Given the description of an element on the screen output the (x, y) to click on. 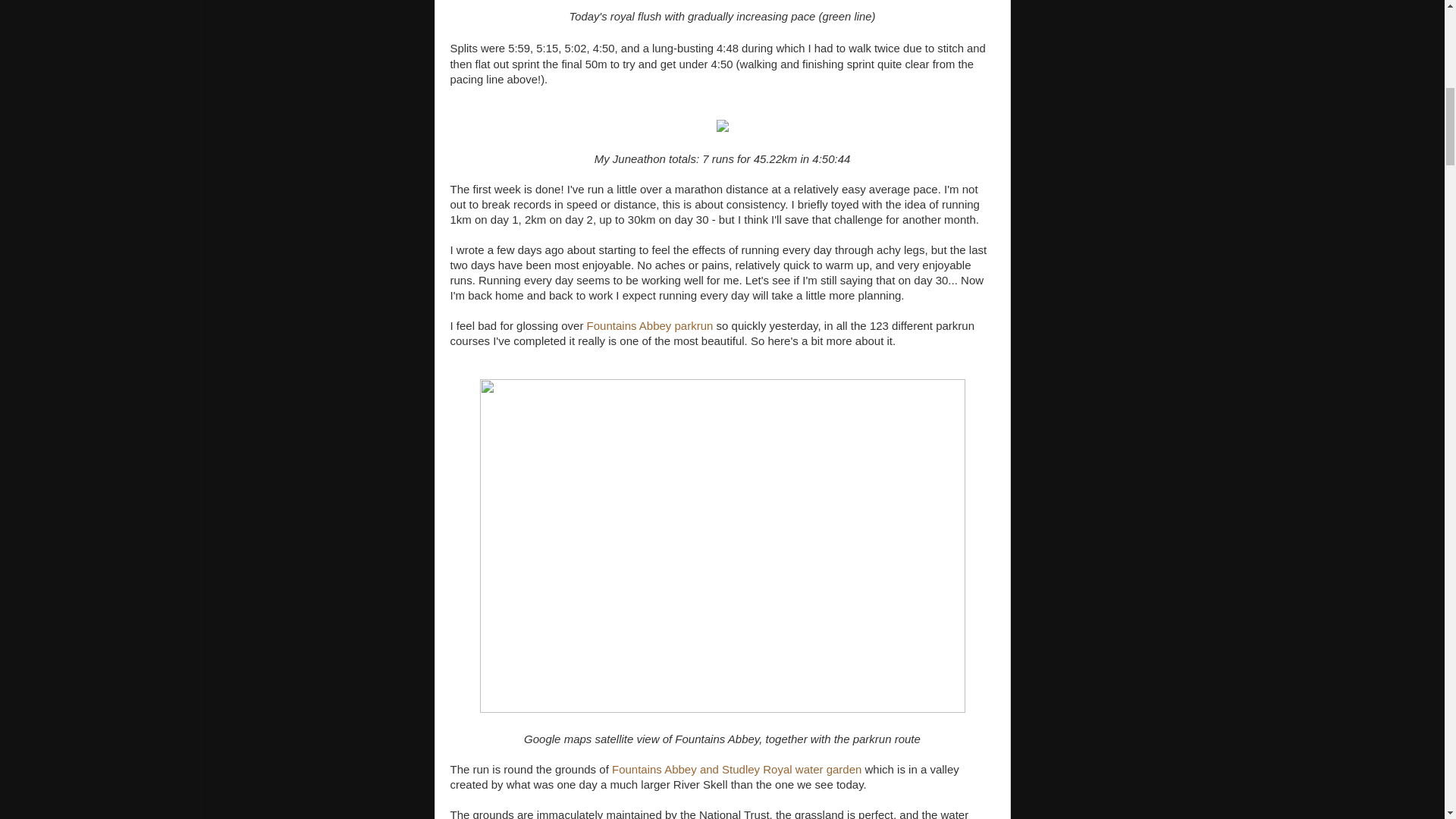
Fountains Abbey parkrun (649, 325)
Fountains Abbey and Studley Royal water garden (736, 768)
